Given the description of an element on the screen output the (x, y) to click on. 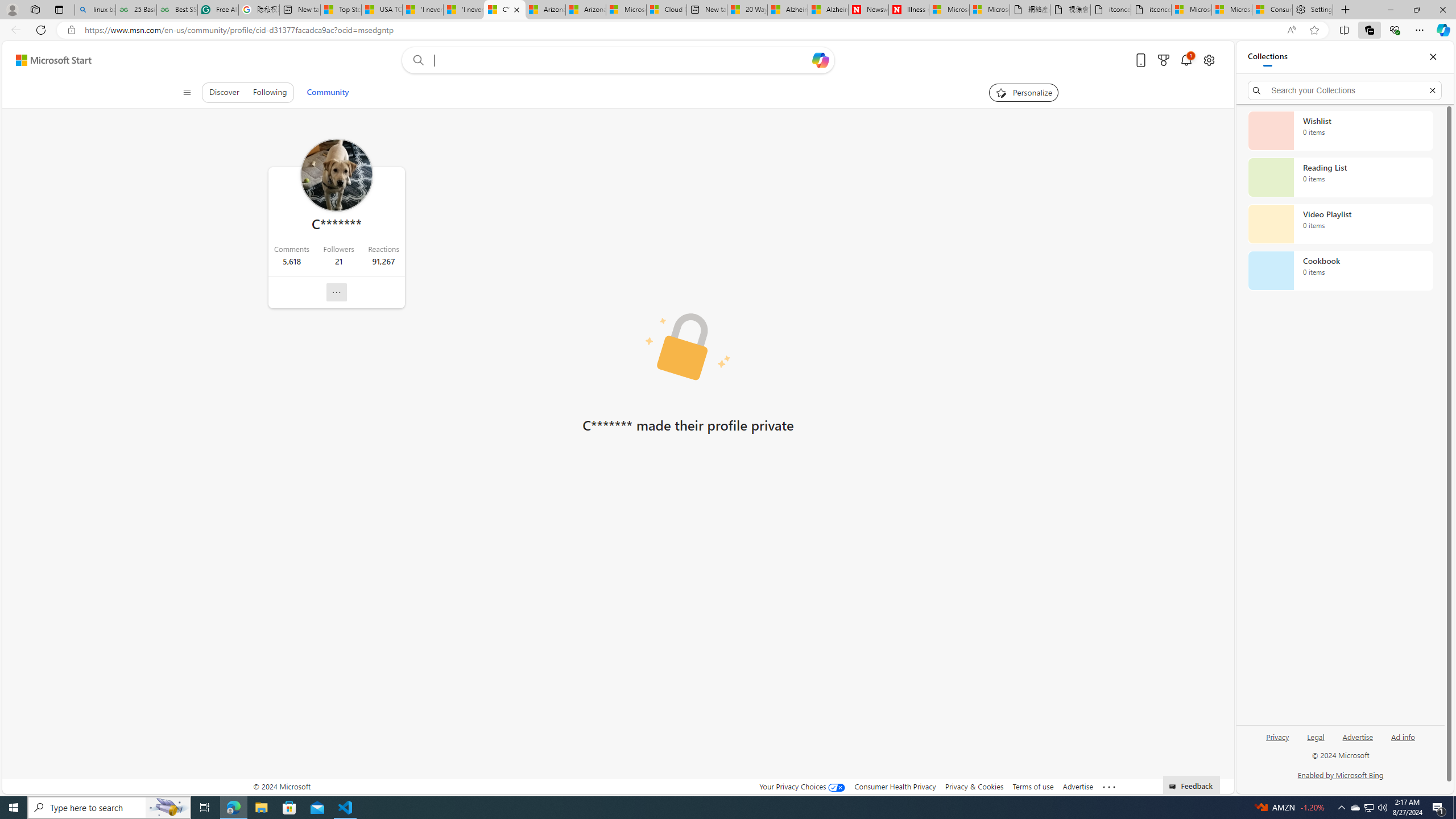
Search your Collections (1345, 90)
Class: cwt-icon-vector (336, 291)
Private profile picture (687, 346)
